Given the description of an element on the screen output the (x, y) to click on. 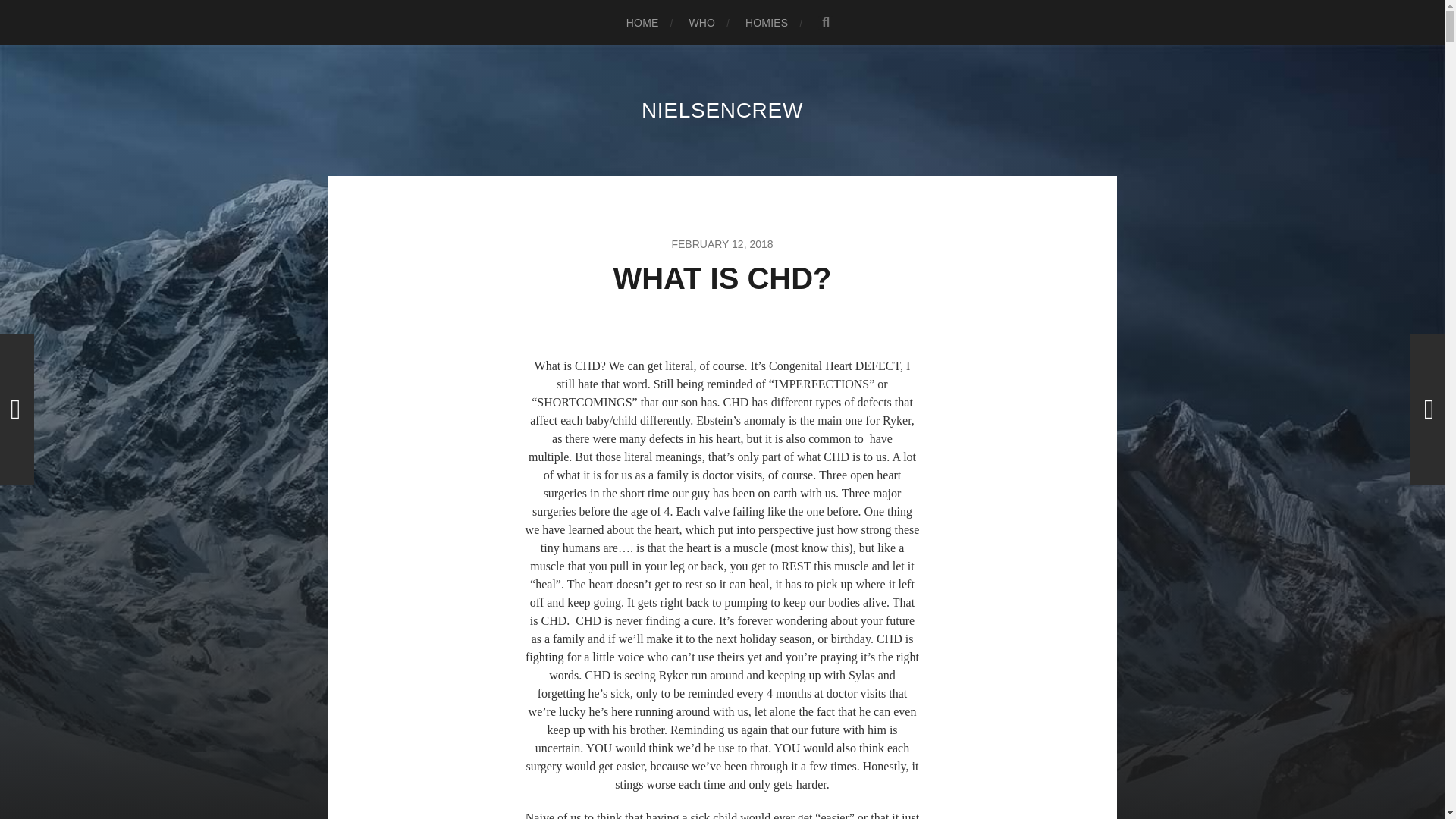
HOME (642, 22)
Previous (16, 409)
WHO (701, 22)
HOMIES (766, 22)
NIELSENCREW (722, 110)
